Given the description of an element on the screen output the (x, y) to click on. 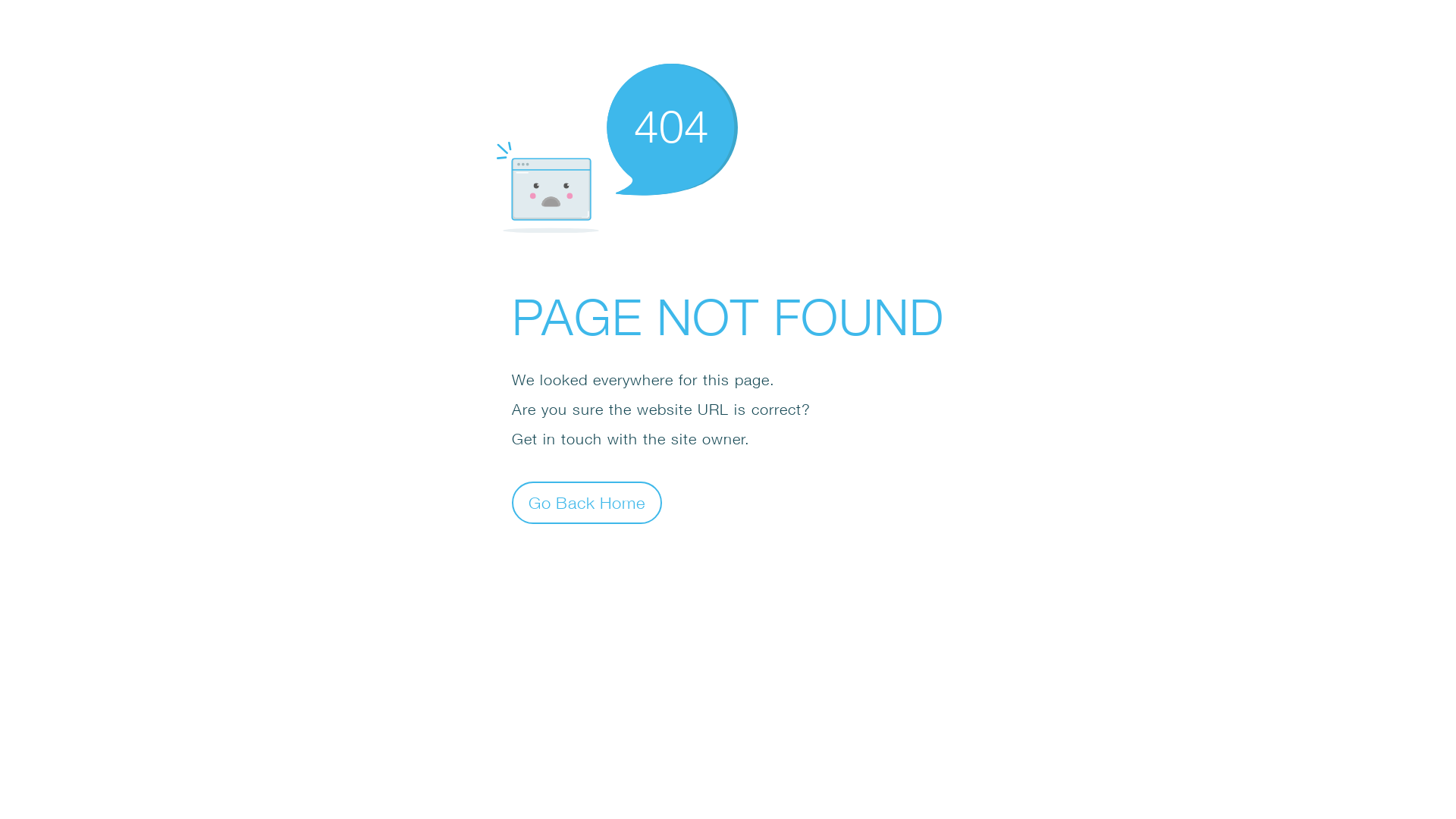
Go Back Home Element type: text (586, 502)
